Given the description of an element on the screen output the (x, y) to click on. 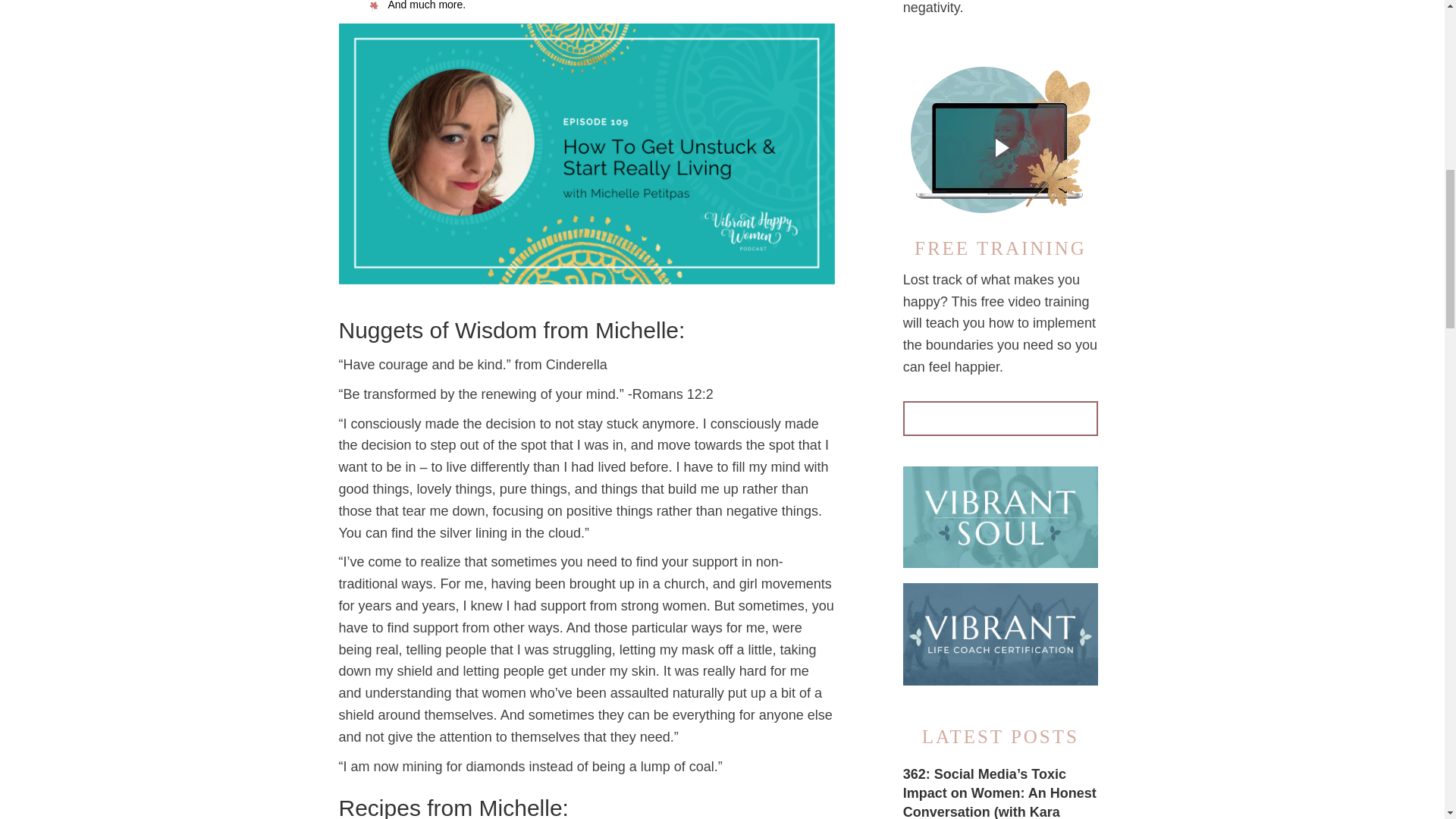
JR Sidebar Optin (999, 137)
1 (999, 516)
2 (999, 633)
